Given the description of an element on the screen output the (x, y) to click on. 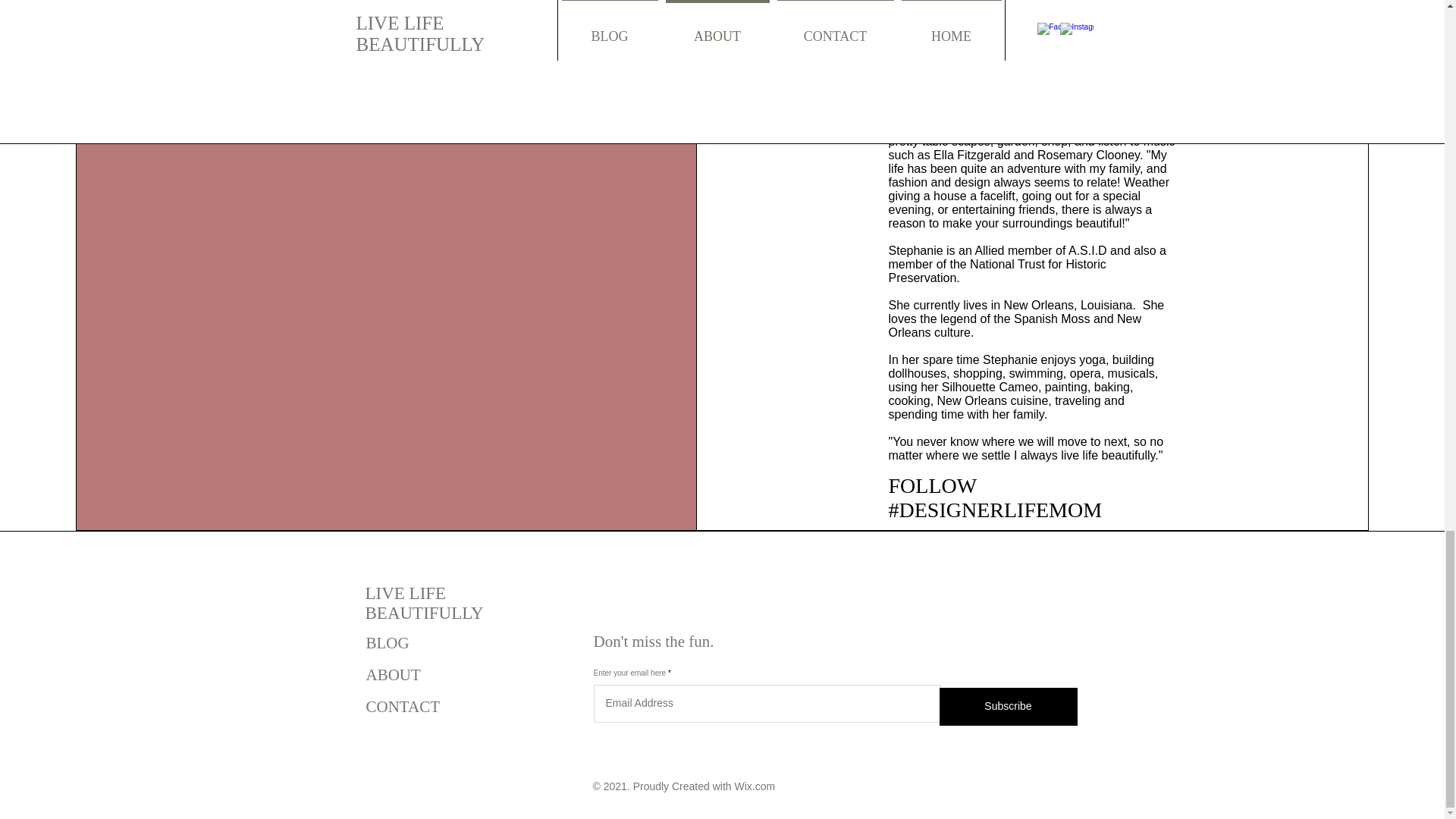
Wix.com (753, 786)
CONTACT (402, 706)
BLOG (387, 642)
ABOUT (392, 674)
LIVE LIFE BEAUTIFULLY (424, 602)
Subscribe (1008, 706)
